Given the description of an element on the screen output the (x, y) to click on. 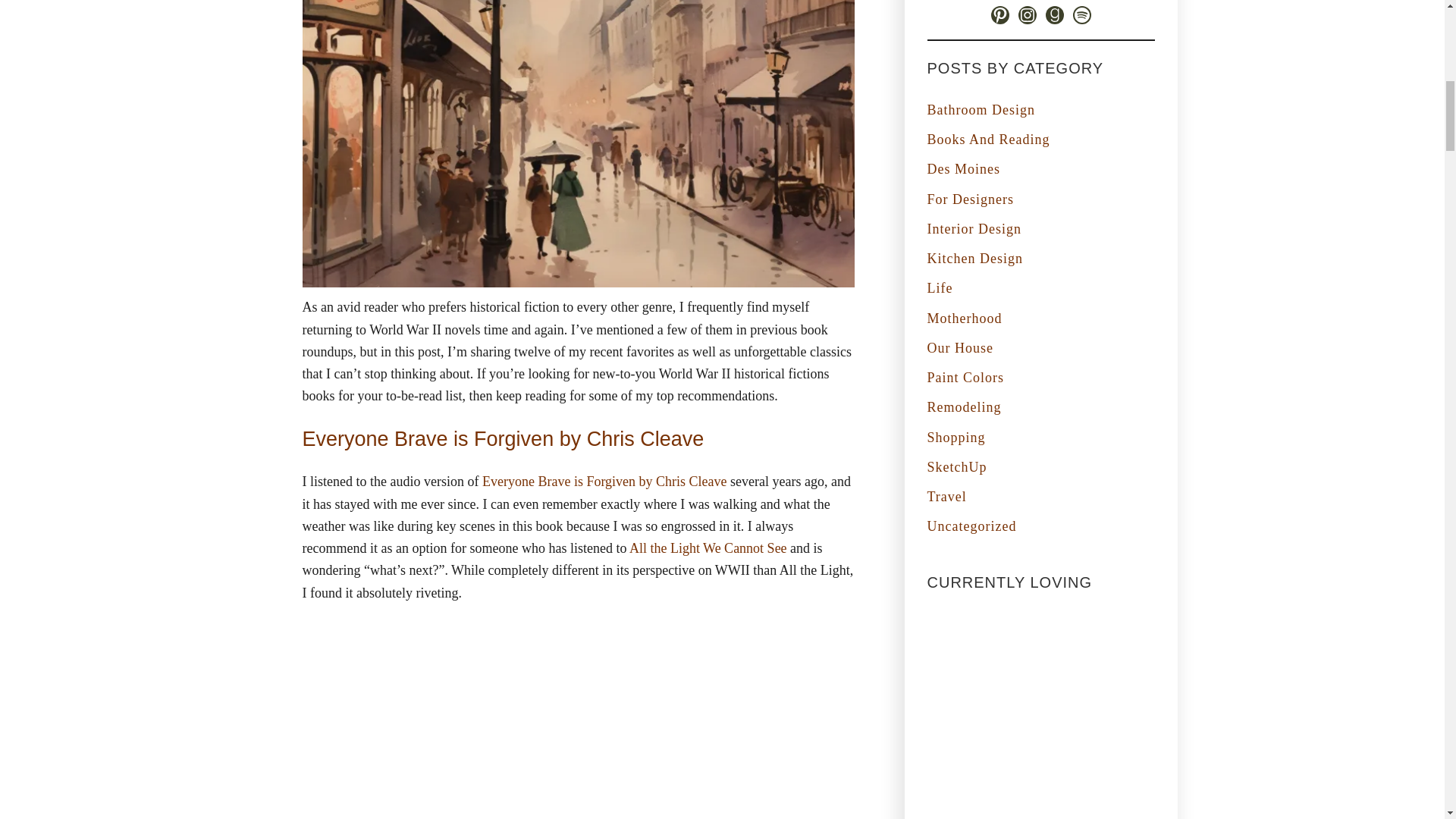
Jillian Lare (1040, 715)
Everyone Brave is Forgiven by Chris Cleave (603, 481)
All the Light We Cannot See (707, 548)
Everyone Brave is Forgiven by Chris Cleave (502, 438)
